Given the description of an element on the screen output the (x, y) to click on. 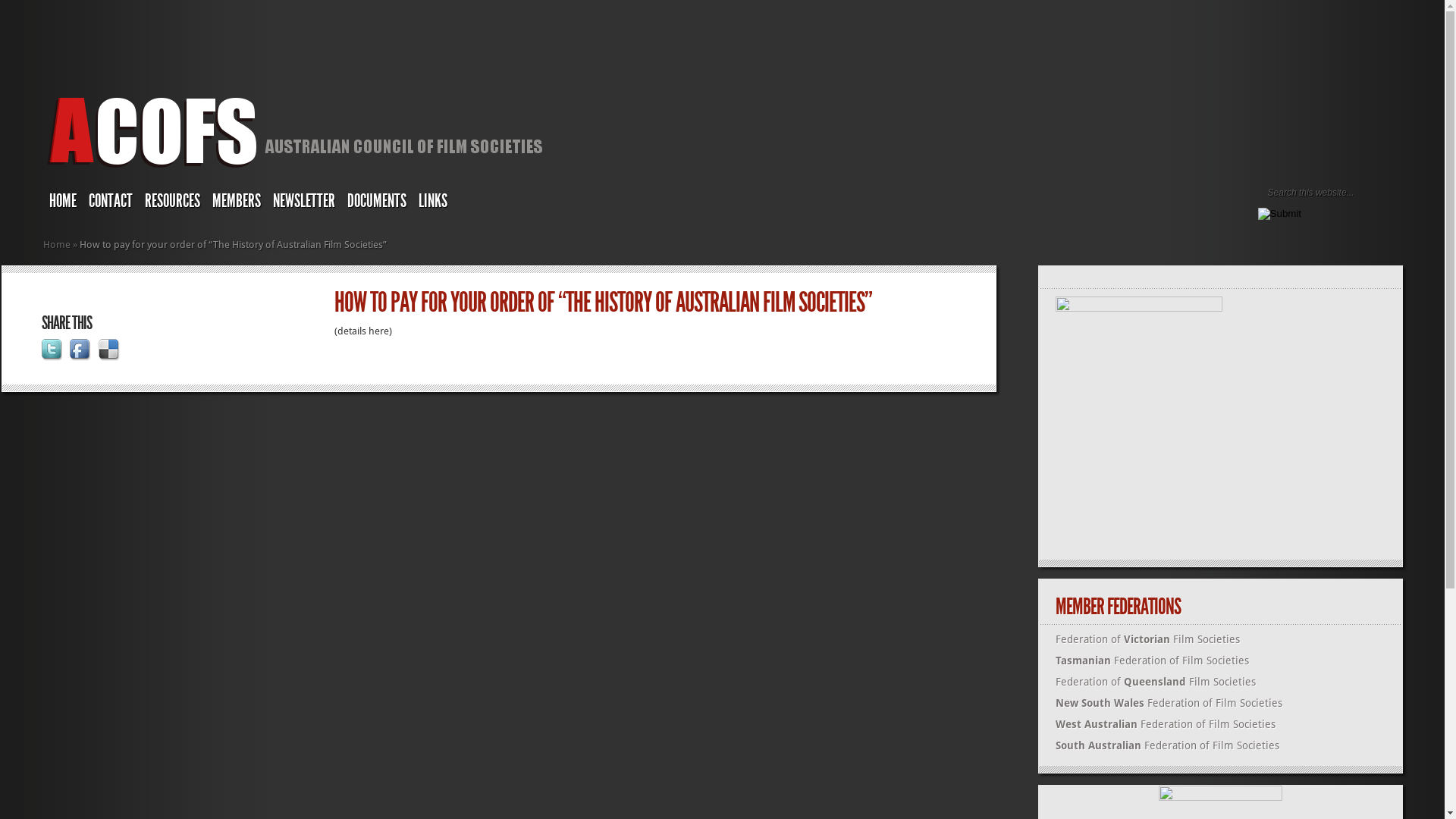
New South Wales Federation of Film Societies Element type: text (1168, 702)
MEMBERS Element type: text (236, 202)
NEWSLETTER Element type: text (303, 202)
Federation of Queensland Film Societies Element type: text (1155, 681)
DOCUMENTS Element type: text (376, 202)
LINKS Element type: text (432, 202)
Federation of Victorian Film Societies Element type: text (1147, 639)
RESOURCES Element type: text (172, 202)
South Australian Federation of Film Societies Element type: text (1167, 745)
CONTACT Element type: text (110, 202)
HOME Element type: text (62, 202)
Tasmanian Federation of Film Societies Element type: text (1151, 660)
West Australian Federation of Film Societies Element type: text (1165, 724)
Home Element type: text (56, 244)
